Given the description of an element on the screen output the (x, y) to click on. 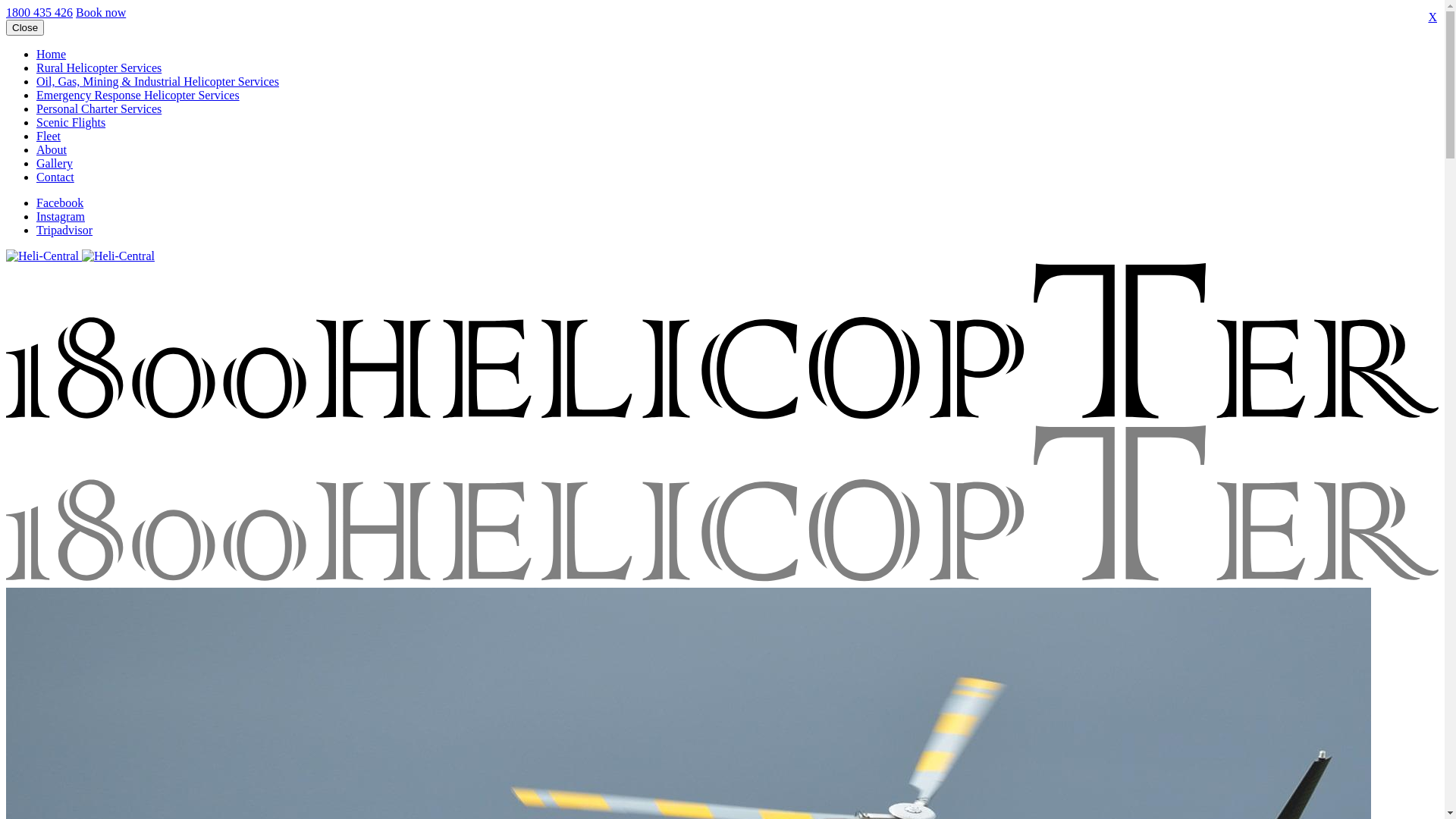
Heli-Central Element type: hover (722, 504)
Personal Charter Services Element type: text (98, 108)
Close Element type: text (24, 27)
Oil, Gas, Mining & Industrial Helicopter Services Element type: text (157, 81)
Gallery Element type: text (54, 162)
1800 435 426 Element type: text (39, 12)
Fleet Element type: text (48, 135)
X Element type: text (1432, 17)
Book now Element type: text (100, 12)
About Element type: text (51, 149)
Tripadvisor Element type: text (64, 229)
Emergency Response Helicopter Services Element type: text (137, 94)
Home Element type: text (50, 53)
Facebook Element type: text (59, 202)
Heli-Central Element type: hover (722, 342)
Scenic Flights Element type: text (70, 122)
Heli-Central Element type: hover (42, 256)
Rural Helicopter Services Element type: text (98, 67)
Heli-Central Element type: hover (117, 256)
Contact Element type: text (55, 176)
Instagram Element type: text (60, 216)
